Given the description of an element on the screen output the (x, y) to click on. 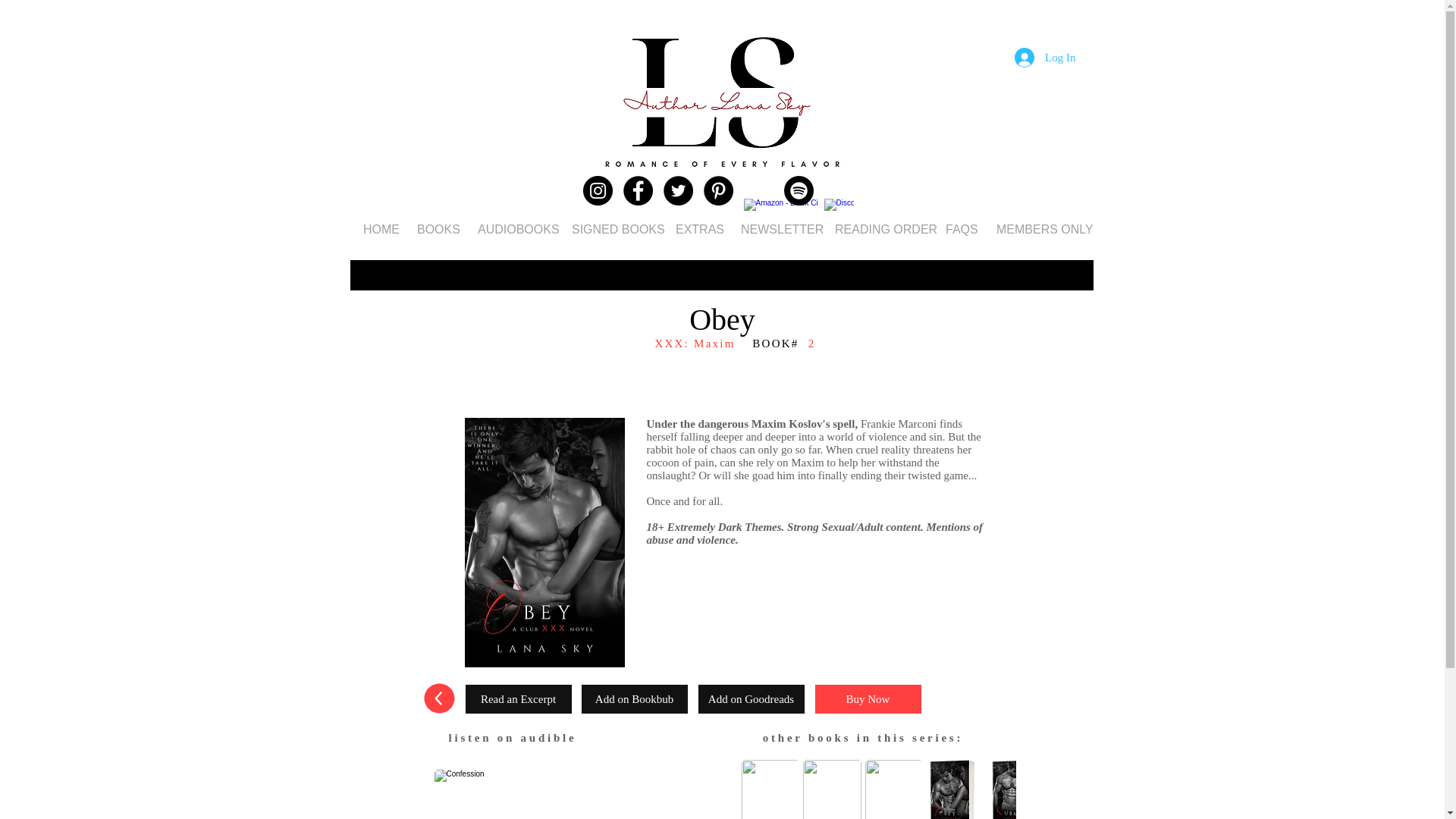
Buy Now (867, 698)
Add on Goodreads (751, 698)
Log In (1045, 57)
FAQS (959, 229)
EXTRAS (696, 229)
READING ORDER (879, 229)
HOME (379, 229)
Add on Bookbub (634, 698)
SIGNED BOOKS (611, 229)
Read an Excerpt (518, 698)
BOOKS (435, 229)
MEMBERS ONLY (1037, 229)
NEWSLETTER (776, 229)
AUDIOBOOKS (512, 229)
